Given the description of an element on the screen output the (x, y) to click on. 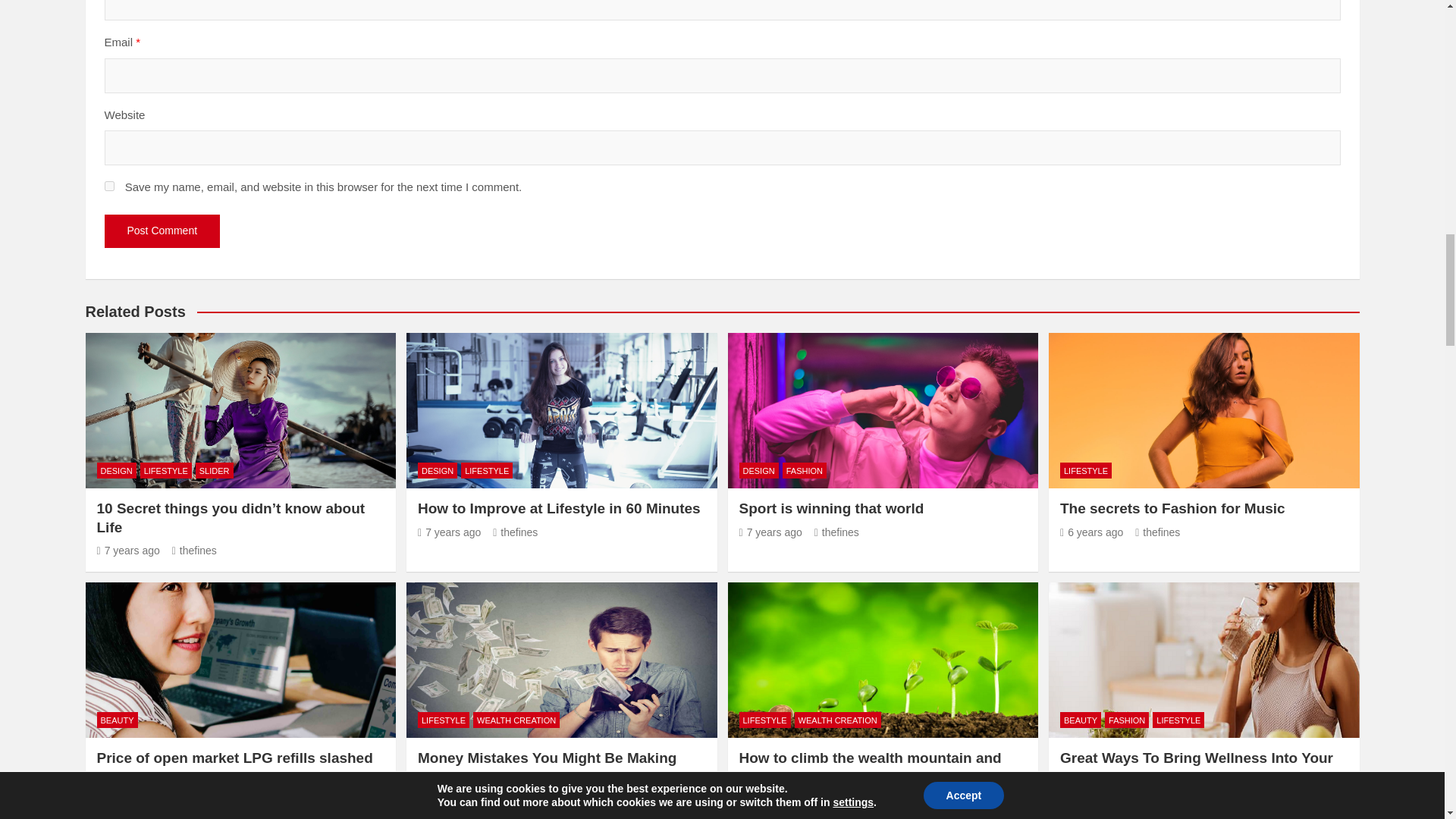
7 years ago (448, 532)
Post Comment (162, 231)
7 years ago (770, 532)
6 years ago (770, 799)
7 years ago (128, 550)
yes (109, 185)
6 years ago (448, 799)
6 years ago (128, 781)
6 years ago (1090, 799)
6 years ago (1090, 532)
